Given the description of an element on the screen output the (x, y) to click on. 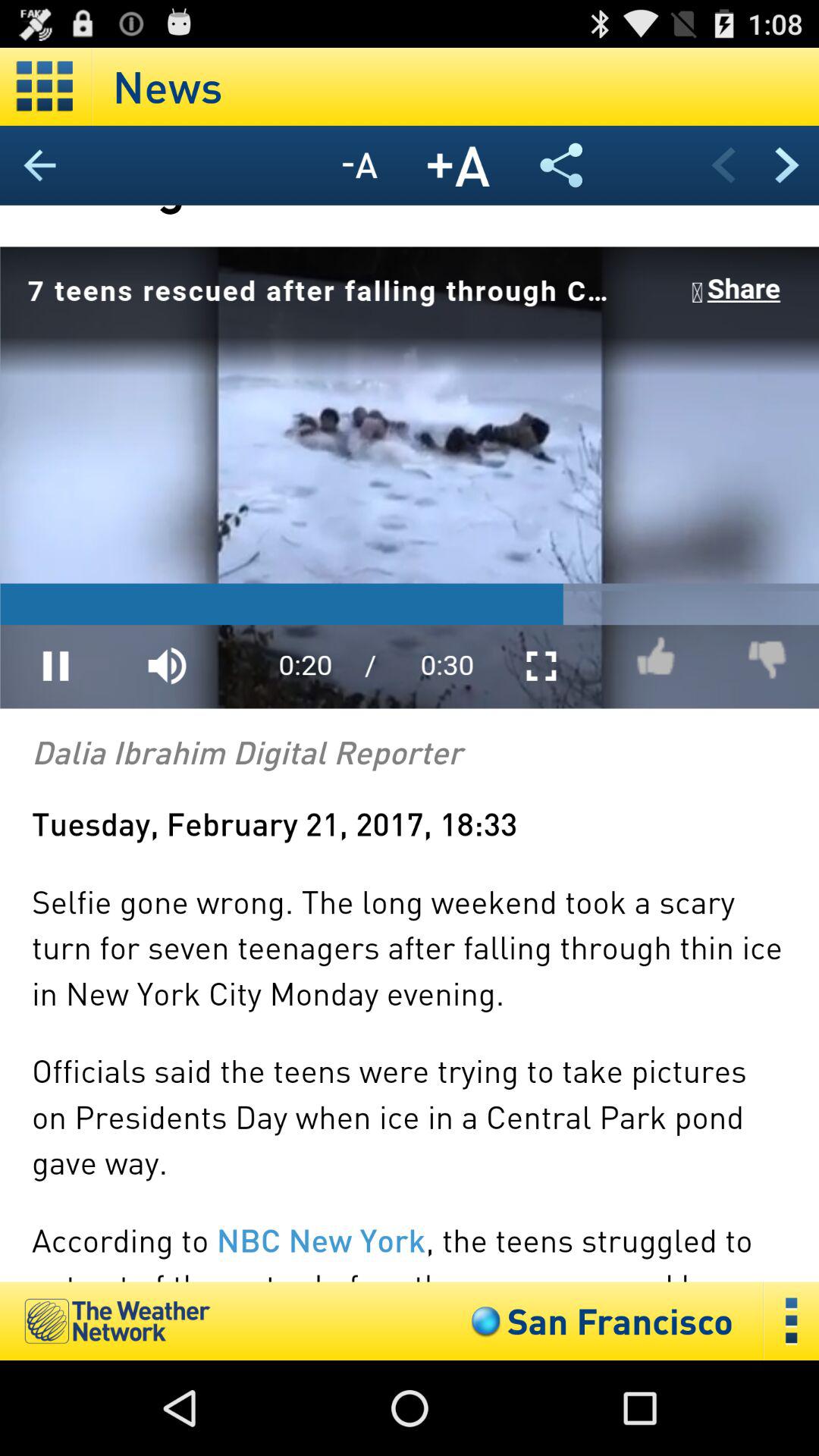
go back go to previous (45, 165)
